Given the description of an element on the screen output the (x, y) to click on. 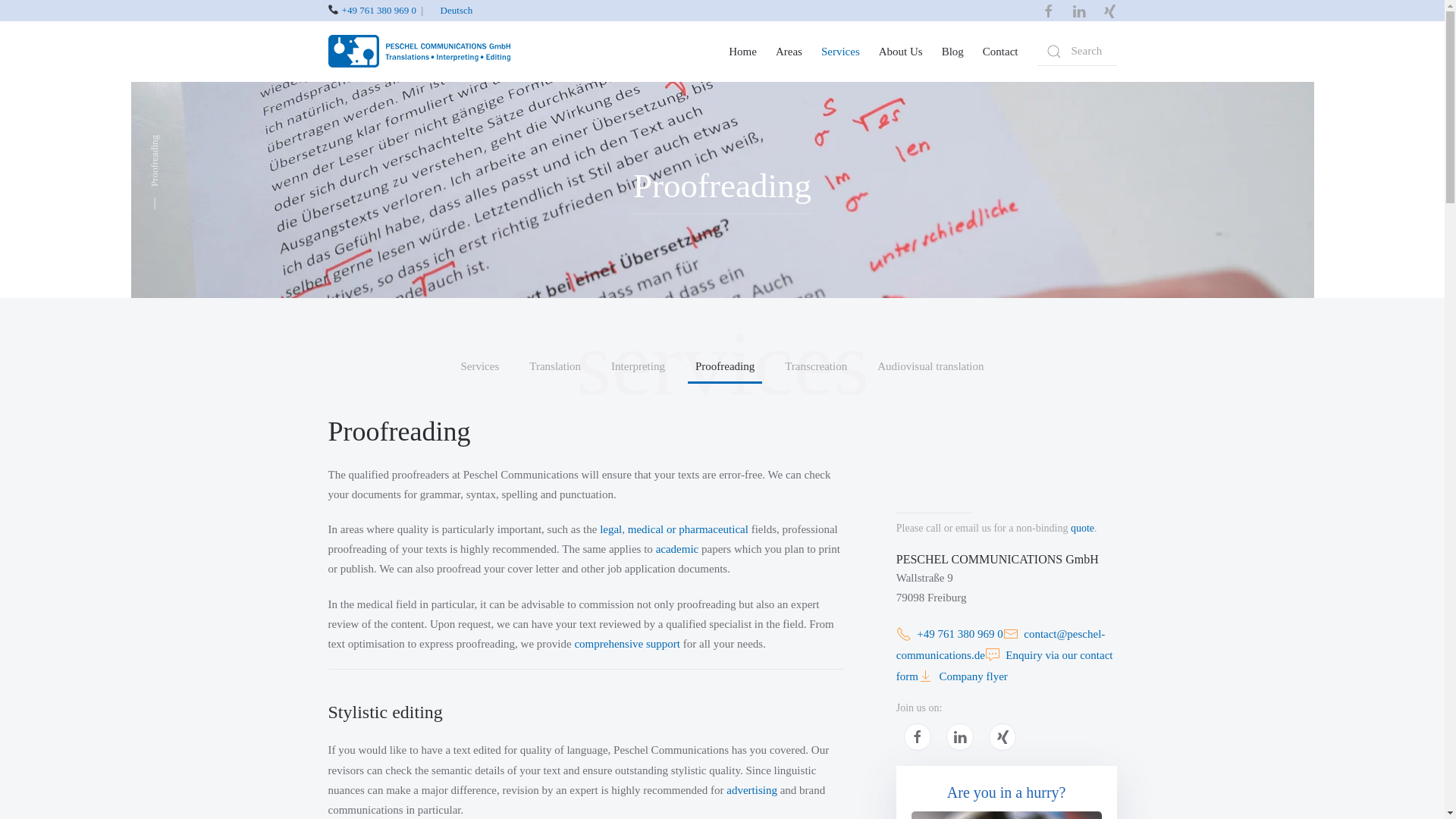
medical or pharmaceutical (687, 529)
legal (610, 529)
Deutsch (457, 9)
Proofreading (721, 190)
Interpreting (638, 367)
Proofreading (724, 367)
Transcreation (815, 367)
Audiovisual translation (930, 367)
academic (677, 548)
Contact (1000, 51)
